Given the description of an element on the screen output the (x, y) to click on. 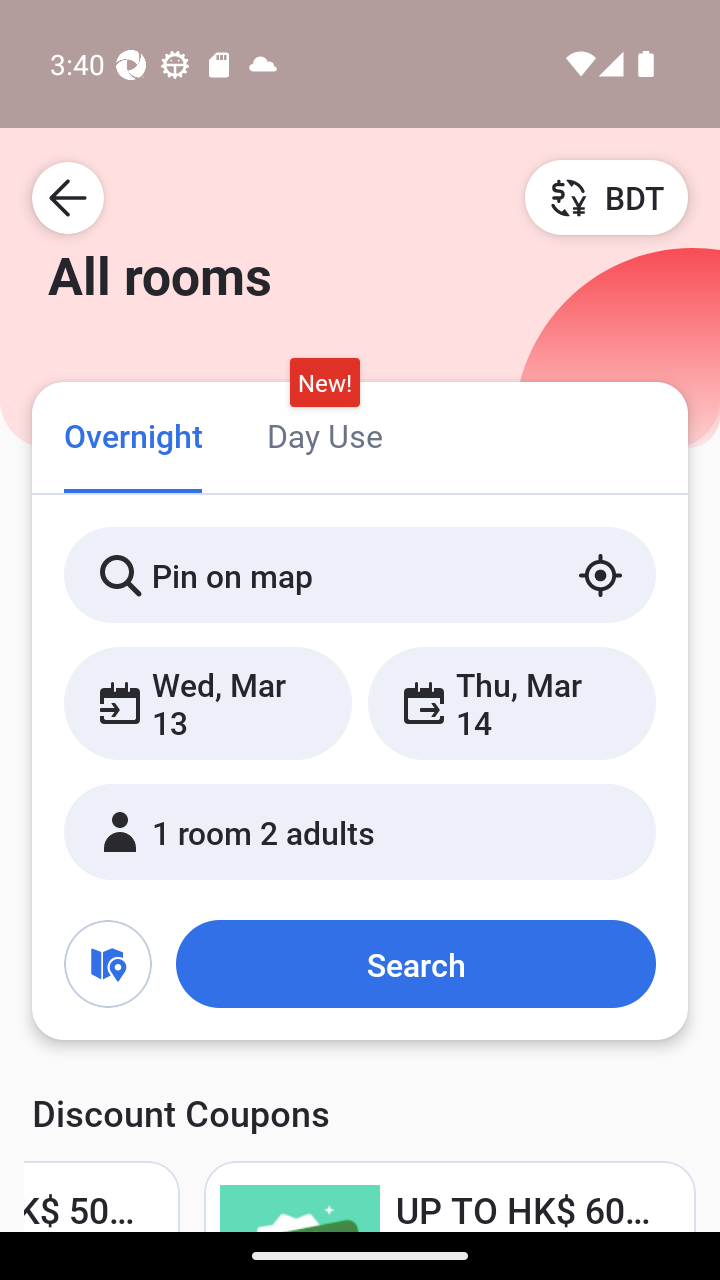
BDT (606, 197)
New! (324, 383)
Day Use (324, 434)
Pin on map (359, 575)
Wed, Mar 13 (208, 703)
Thu, Mar 14 (511, 703)
1 room 2 adults (359, 831)
Search (415, 964)
